Given the description of an element on the screen output the (x, y) to click on. 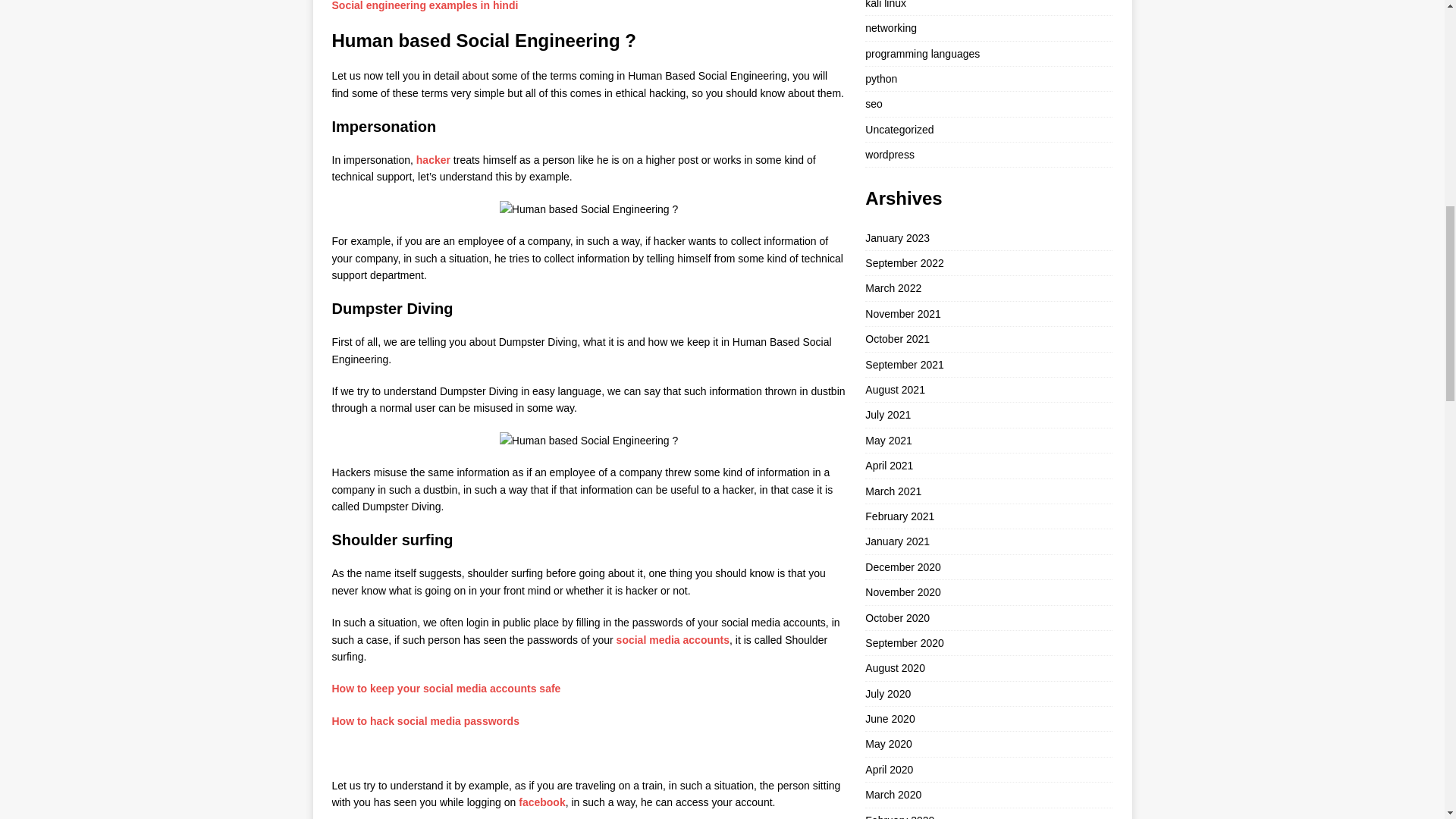
Social engineering examples in hindi (424, 5)
How to keep your social media accounts safe (445, 688)
hacker (434, 159)
How to hack social media passwords (425, 720)
social media accounts (672, 639)
facebook (541, 802)
